Given the description of an element on the screen output the (x, y) to click on. 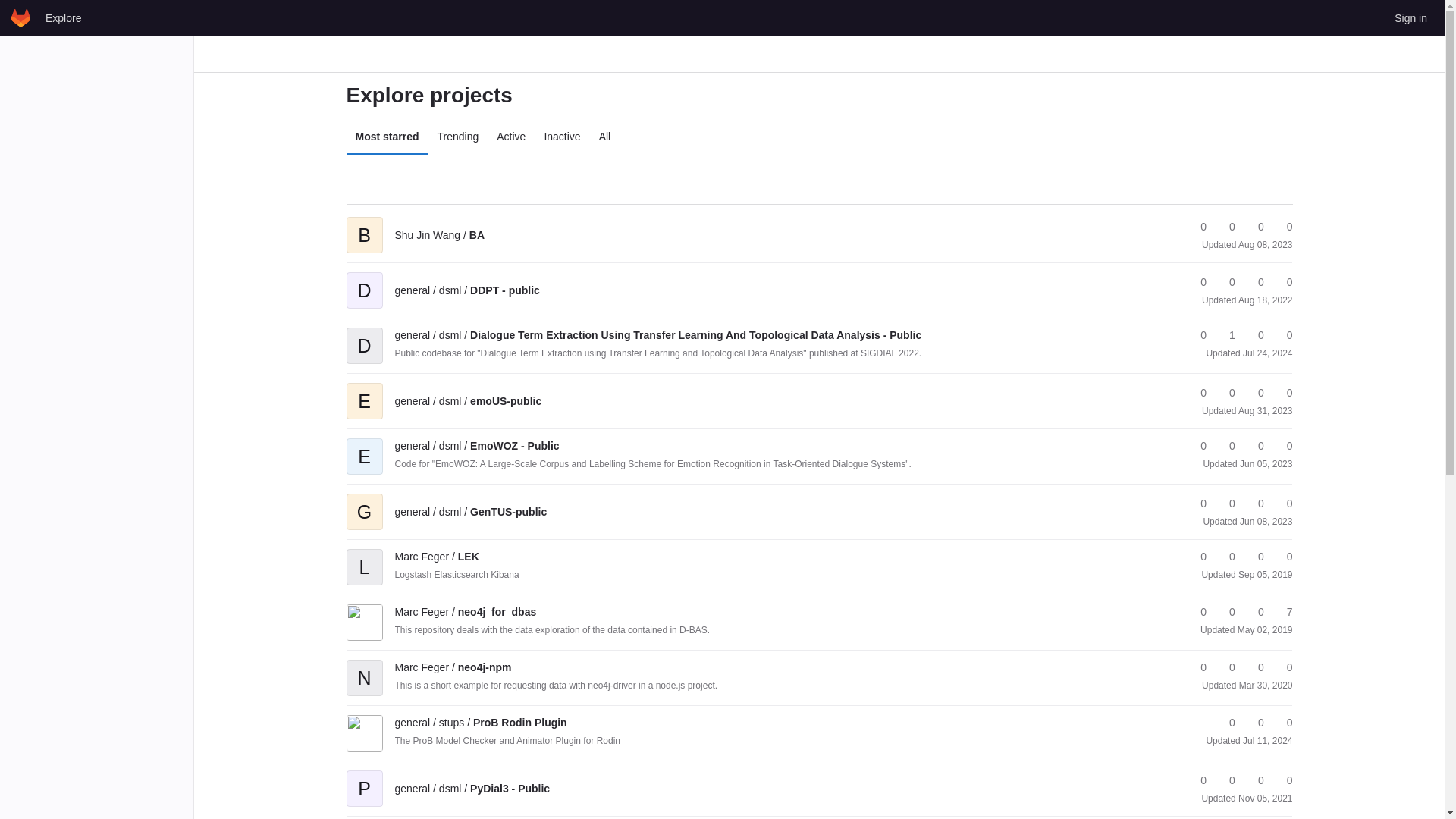
DDPT - public (466, 290)
Active (510, 135)
1 (1224, 335)
0 (1224, 282)
Aug 18, 2022 11:49am (1265, 299)
0 (1196, 282)
0 (1224, 227)
Issues (1282, 227)
0 (1196, 335)
B (363, 224)
Merge requests (1253, 227)
Forks (1224, 227)
0 (1224, 392)
0 (1282, 335)
Merge requests (1253, 282)
